Given the description of an element on the screen output the (x, y) to click on. 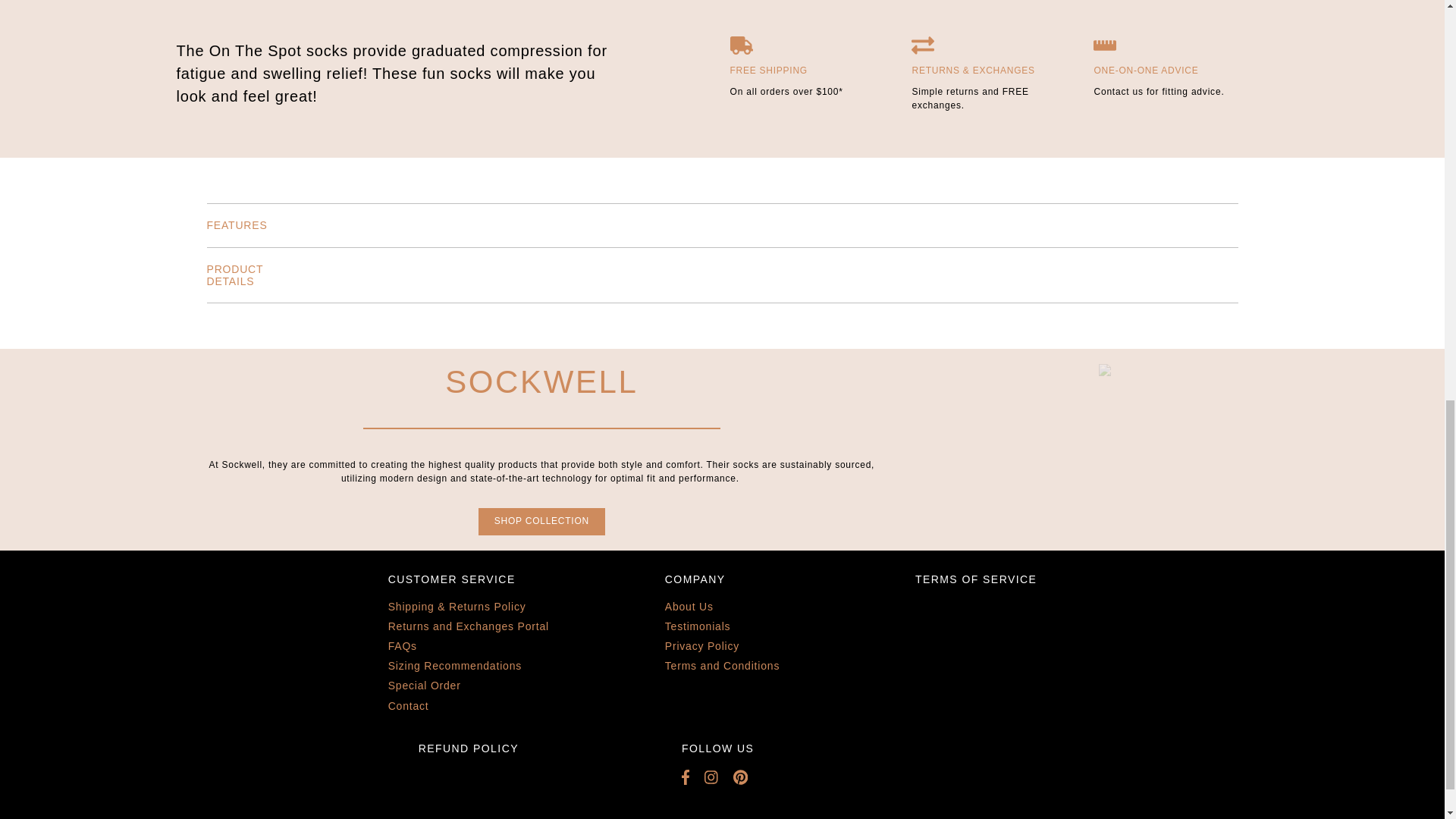
Sole City Shoes on Pinterest (747, 776)
Sole City Shoes on Facebook (692, 776)
Sole City Shoes on Instagram (718, 776)
